Given the description of an element on the screen output the (x, y) to click on. 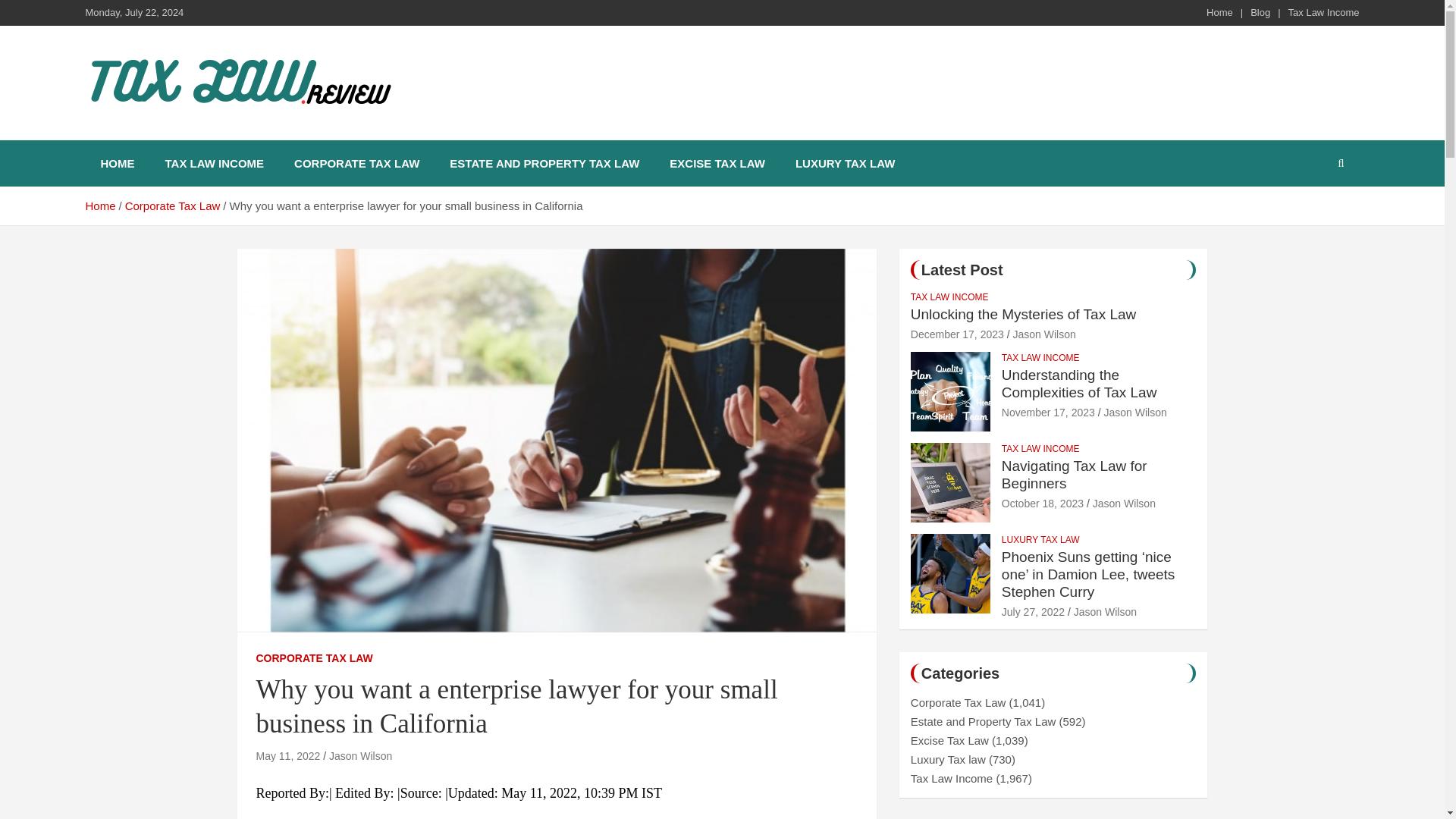
LUXURY TAX LAW (845, 163)
December 17, 2023 (957, 334)
TAX LAW INCOME (1040, 449)
TAX LAW (151, 136)
TAX LAW INCOME (949, 297)
Latest Post (962, 269)
CORPORATE TAX LAW (314, 658)
Understanding the Complexities of Tax Law (1079, 383)
Corporate Tax Law (173, 205)
November 17, 2023 (1047, 412)
Navigating Tax Law for Beginners (1074, 474)
HOME (116, 163)
TAX LAW INCOME (214, 163)
Understanding the Complexities of Tax Law (1047, 412)
Home (99, 205)
